Given the description of an element on the screen output the (x, y) to click on. 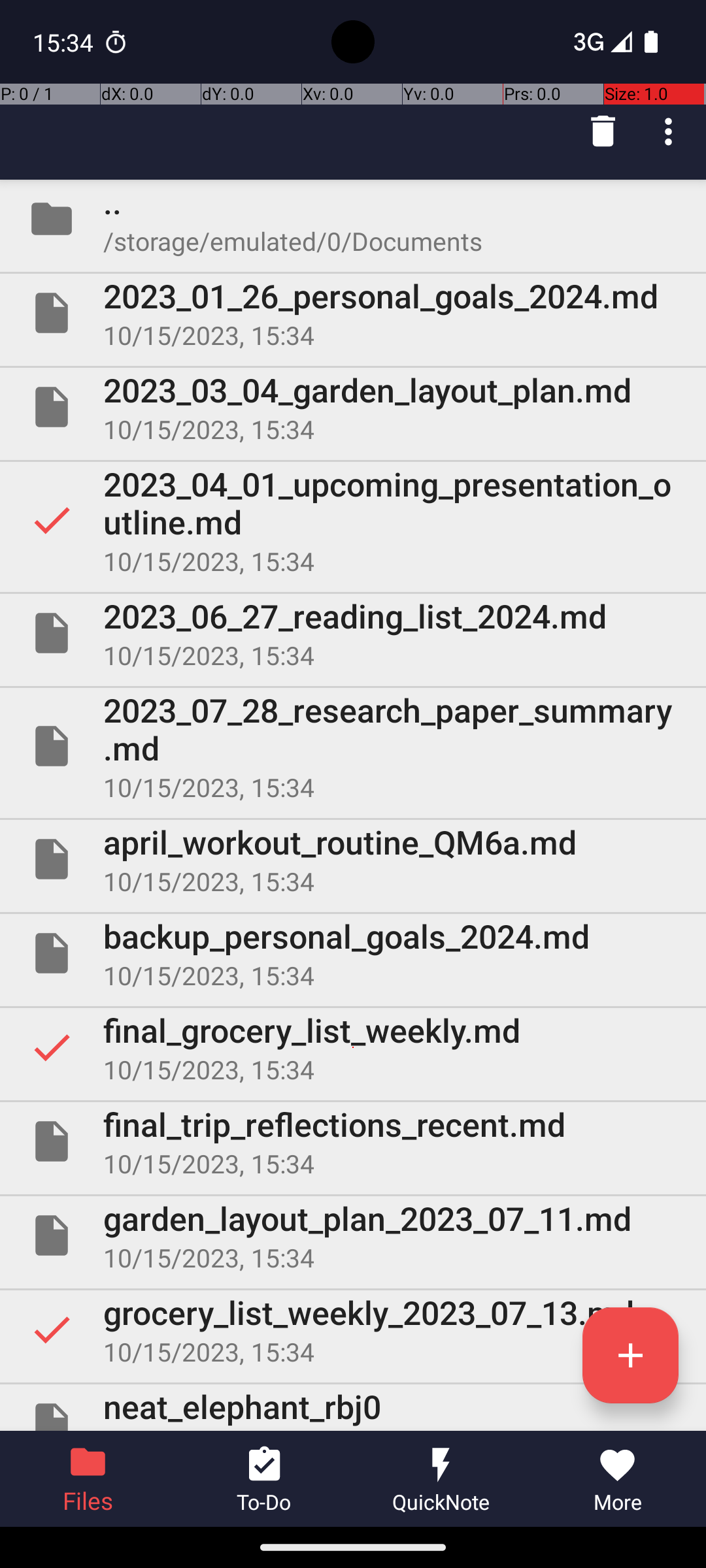
File 2023_01_26_personal_goals_2024.md  Element type: android.widget.LinearLayout (353, 312)
File 2023_03_04_garden_layout_plan.md  Element type: android.widget.LinearLayout (353, 406)
Selected 2023_04_01_upcoming_presentation_outline.md  Element type: android.widget.LinearLayout (353, 519)
File 2023_06_27_reading_list_2024.md  Element type: android.widget.LinearLayout (353, 632)
File 2023_07_28_research_paper_summary.md  Element type: android.widget.LinearLayout (353, 745)
File april_workout_routine_QM6a.md  Element type: android.widget.LinearLayout (353, 858)
File backup_personal_goals_2024.md  Element type: android.widget.LinearLayout (353, 953)
Selected final_grocery_list_weekly.md 10/15/2023, 15:34 Element type: android.widget.LinearLayout (353, 1047)
File final_trip_reflections_recent.md  Element type: android.widget.LinearLayout (353, 1141)
File garden_layout_plan_2023_07_11.md  Element type: android.widget.LinearLayout (353, 1235)
Selected grocery_list_weekly_2023_07_13.md 10/15/2023, 15:34 Element type: android.widget.LinearLayout (353, 1329)
File neat_elephant_rbj0  Element type: android.widget.LinearLayout (353, 1407)
